Given the description of an element on the screen output the (x, y) to click on. 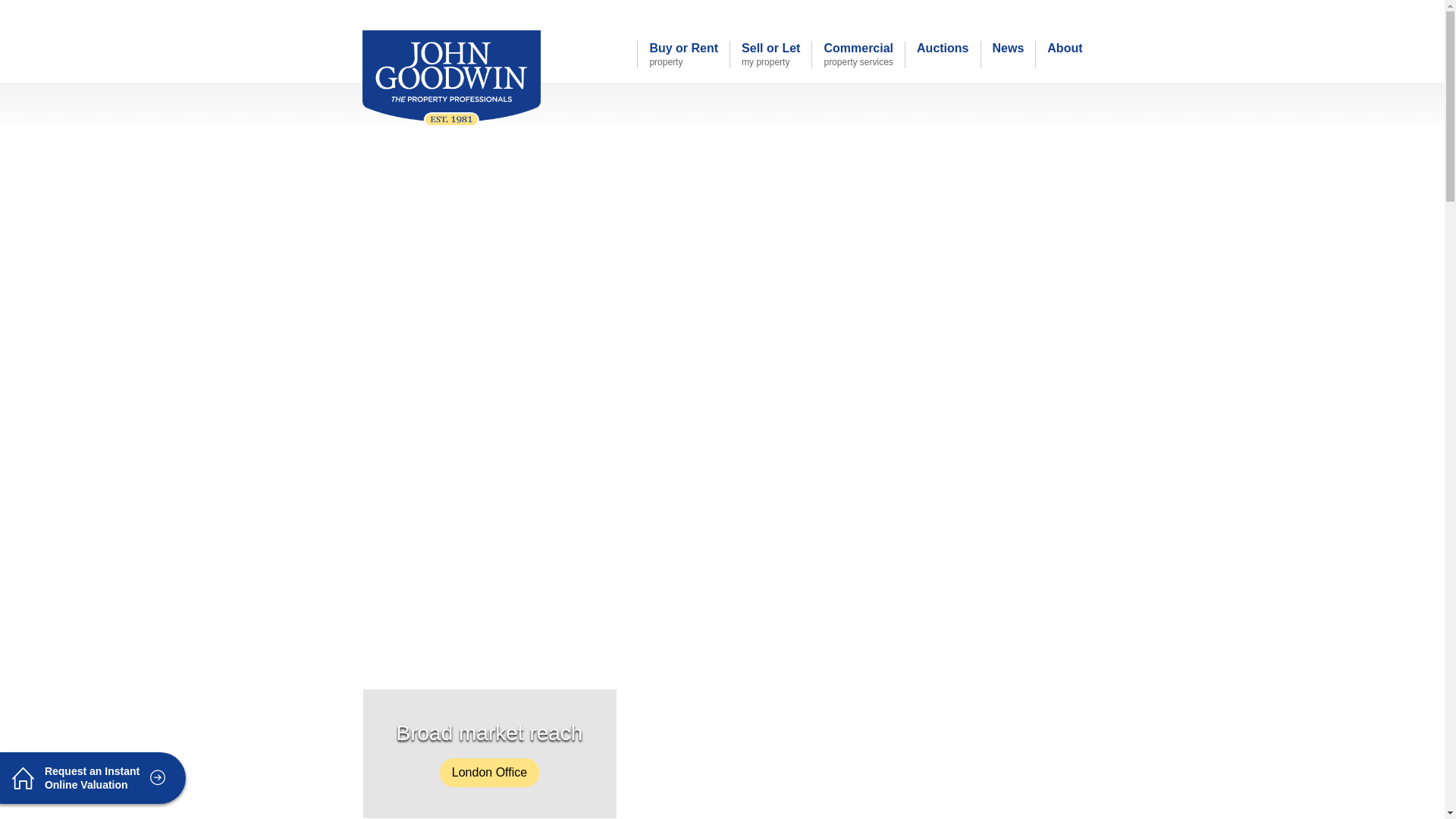
Get your instant online valuation (683, 53)
Auctions (811, 11)
Instant Online Valuation (941, 53)
Contact Us (811, 11)
News (769, 53)
Virtual Valuation (1042, 13)
About (857, 53)
